Given the description of an element on the screen output the (x, y) to click on. 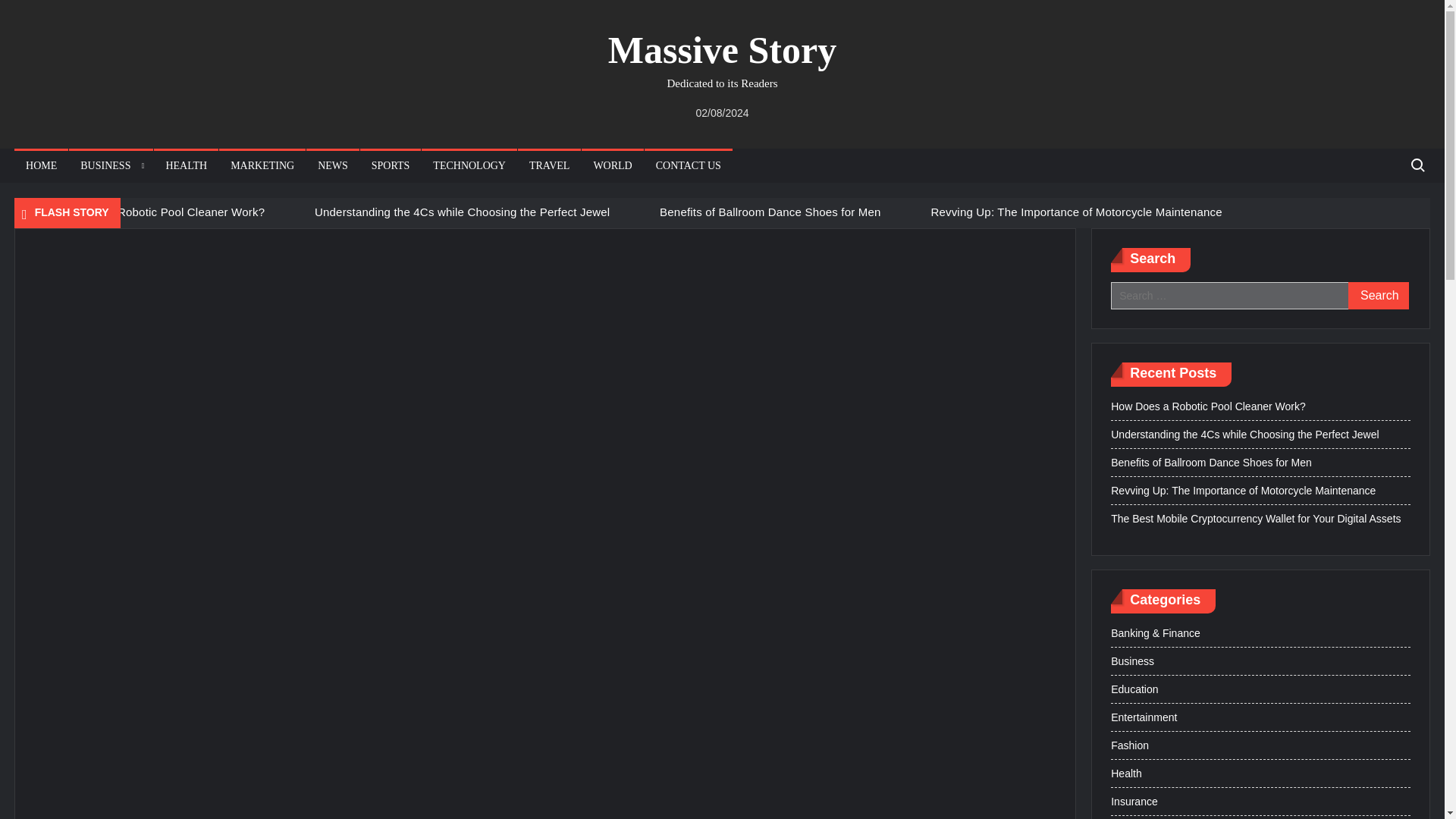
BUSINESS (110, 165)
Crypto Non-Custodial Wallets (401, 237)
HEALTH (186, 165)
Understanding the 4Cs while Choosing the Perfect Jewel (462, 210)
Benefits of Ballroom Dance Shoes for Men (769, 210)
Search (1378, 295)
TRAVEL (549, 165)
MARKETING (262, 165)
How Does a Robotic Pool Cleaner Work? (157, 210)
How Does a Robotic Pool Cleaner Work? (31, 212)
How Does a Robotic Pool Cleaner Work? (157, 210)
Understanding the 4Cs while Choosing the Perfect Jewel (295, 212)
Search for: (1417, 165)
TECHNOLOGY (469, 165)
